Given the description of an element on the screen output the (x, y) to click on. 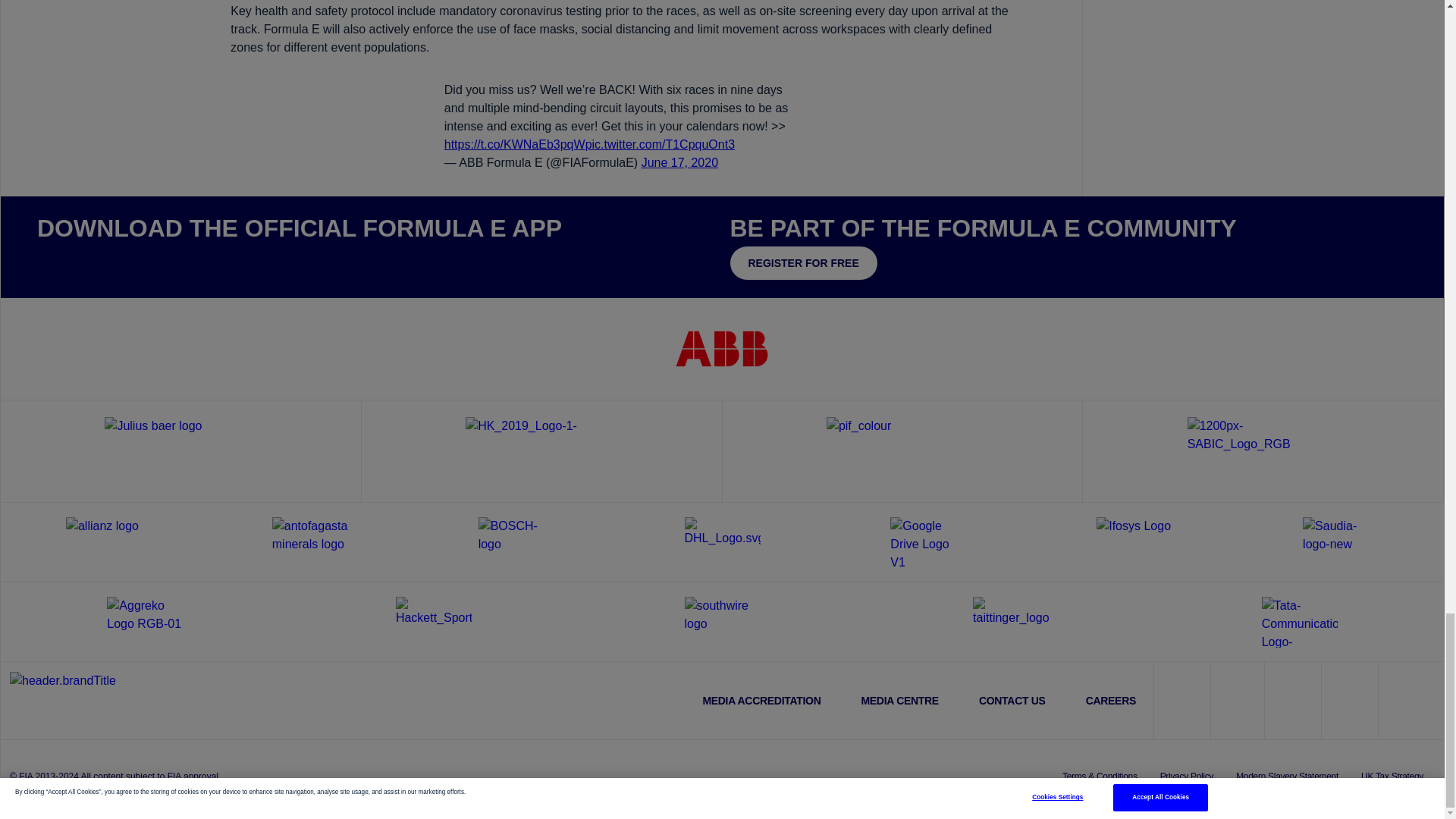
Embedded Tweet (621, 126)
Visit the Google Play Store (175, 260)
Public Investment Fund (902, 450)
Global Partner (180, 450)
Technical Partner (541, 450)
Title Partner (721, 348)
Register for free (802, 263)
Visit the App Store (81, 260)
